Given the description of an element on the screen output the (x, y) to click on. 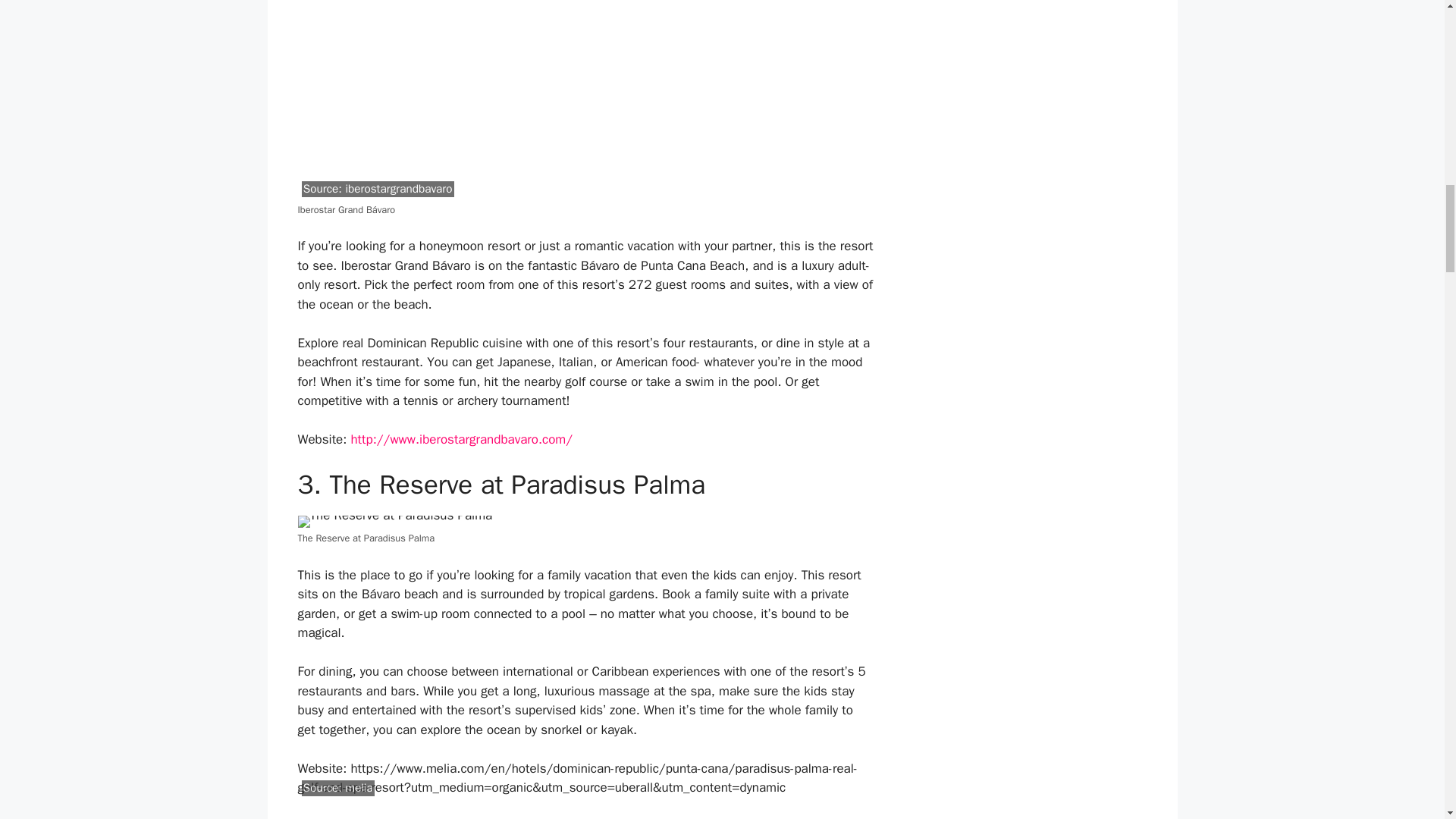
melia (358, 787)
iberostargrandbavaro (398, 188)
